Given the description of an element on the screen output the (x, y) to click on. 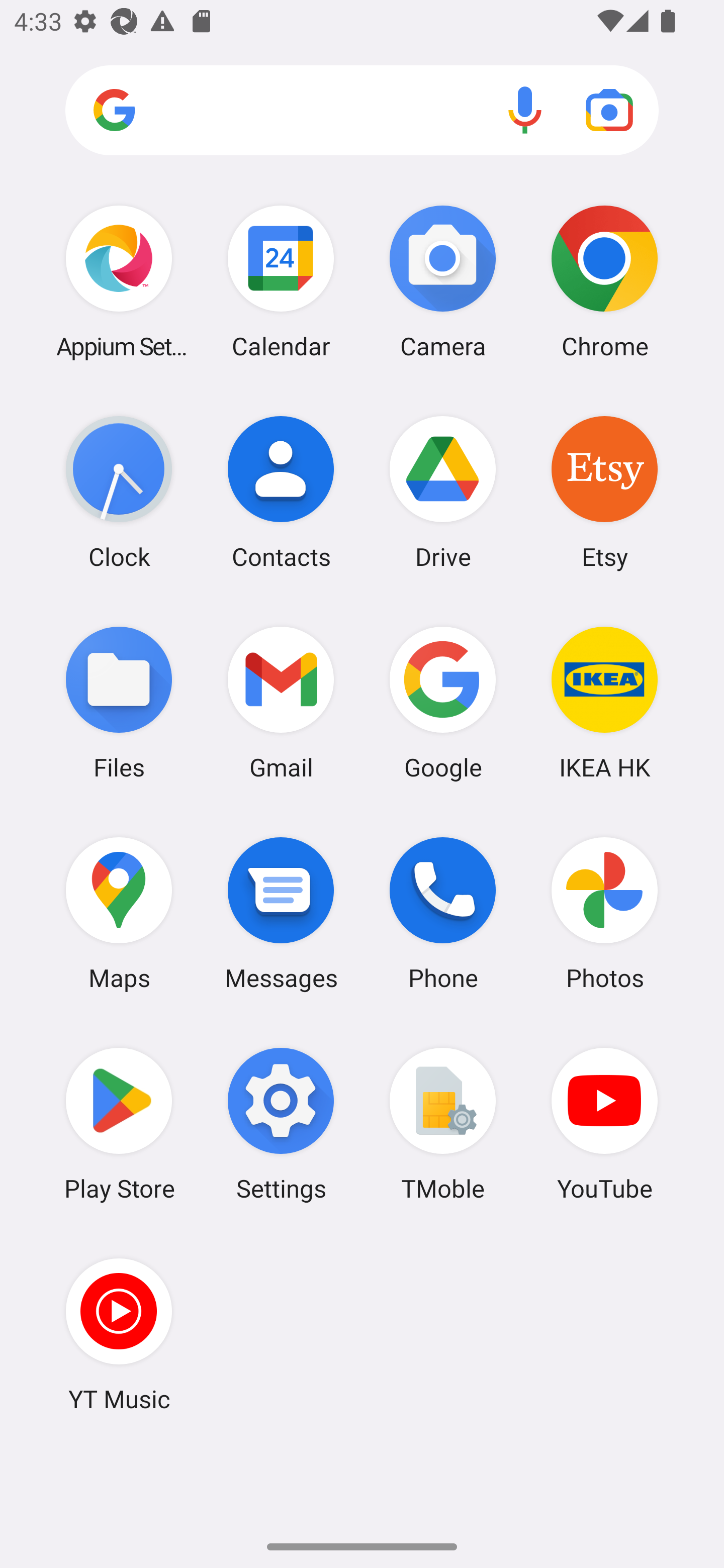
Search apps, web and more (361, 110)
Voice search (524, 109)
Google Lens (608, 109)
Appium Settings (118, 281)
Calendar (280, 281)
Camera (443, 281)
Chrome (604, 281)
Clock (118, 492)
Contacts (280, 492)
Drive (443, 492)
Etsy (604, 492)
Files (118, 702)
Gmail (280, 702)
Google (443, 702)
IKEA HK (604, 702)
Maps (118, 913)
Messages (280, 913)
Phone (443, 913)
Photos (604, 913)
Play Store (118, 1124)
Settings (280, 1124)
TMoble (443, 1124)
YouTube (604, 1124)
YT Music (118, 1334)
